Given the description of an element on the screen output the (x, y) to click on. 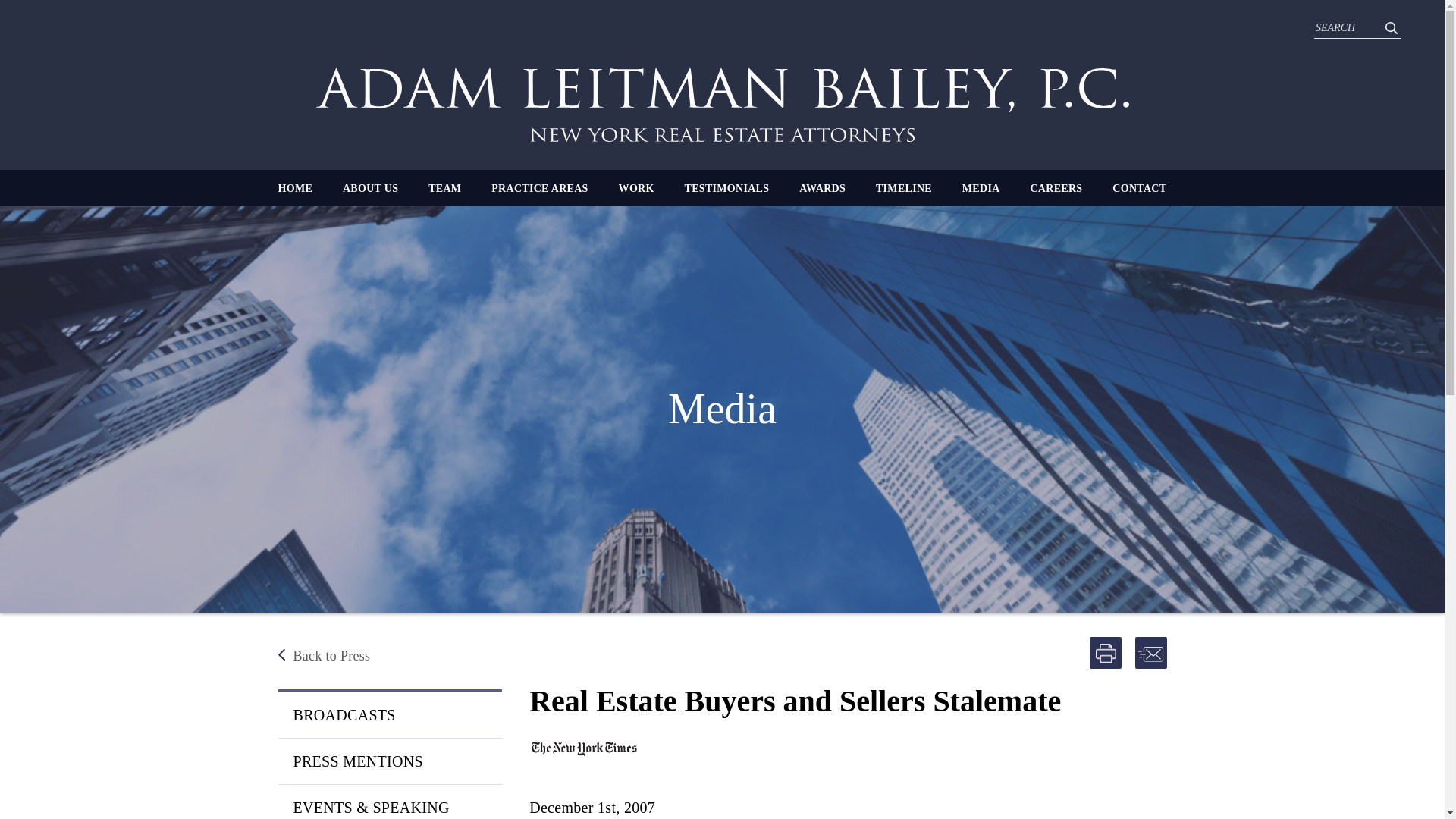
PRESS MENTIONS (389, 760)
Back to Press (389, 656)
TEAM (444, 187)
MEDIA (981, 187)
CAREERS (1055, 187)
HOME (295, 187)
PRACTICE AREAS (540, 187)
TESTIMONIALS (727, 187)
AWARDS (822, 187)
CONTACT (1139, 187)
BROADCASTS (389, 714)
ABOUT US (369, 187)
TIMELINE (903, 187)
WORK (635, 187)
